Given the description of an element on the screen output the (x, y) to click on. 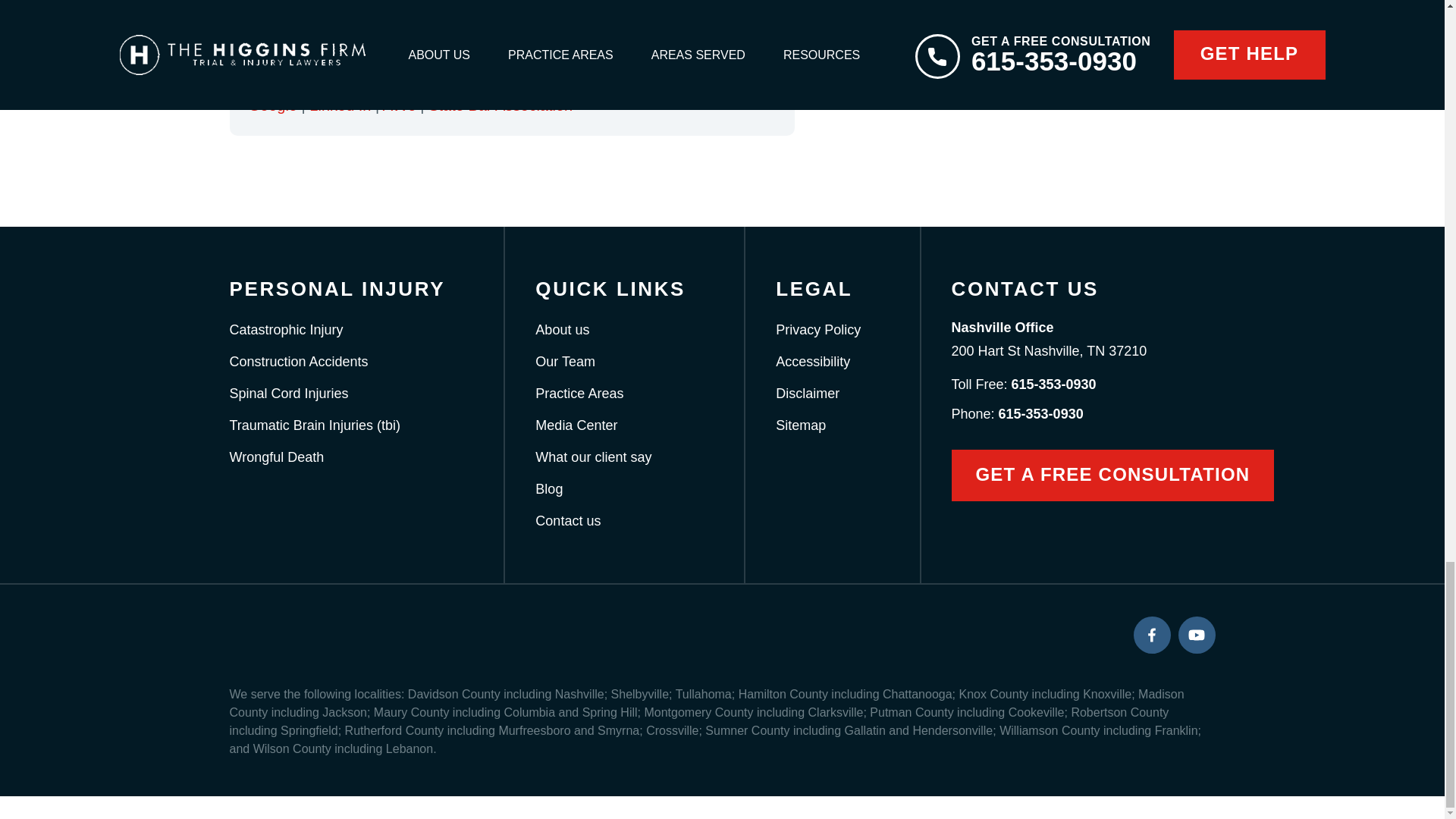
Spinal Cord Injuries (287, 393)
State Bar Association (500, 105)
Construction Accidents (298, 361)
Catastrophic Injury (285, 329)
Google (273, 105)
About us (562, 329)
Avvo (399, 105)
Linked In (339, 105)
Our Team (565, 361)
Practice Areas (579, 393)
